Given the description of an element on the screen output the (x, y) to click on. 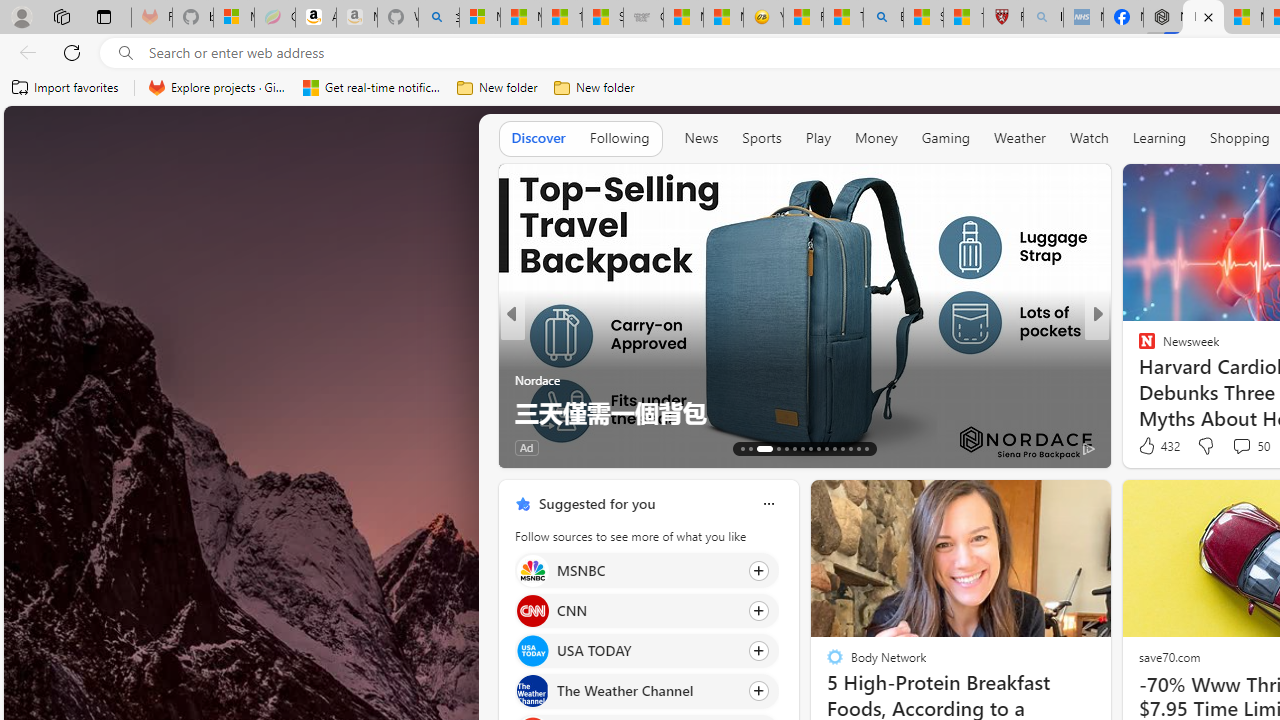
Click to follow source USA TODAY (646, 651)
2 Like (1145, 447)
Weather (1020, 137)
68 Like (1149, 447)
View comments 50 Comment (1249, 446)
AutomationID: tab-67 (750, 448)
1 Like (1145, 447)
